Given the description of an element on the screen output the (x, y) to click on. 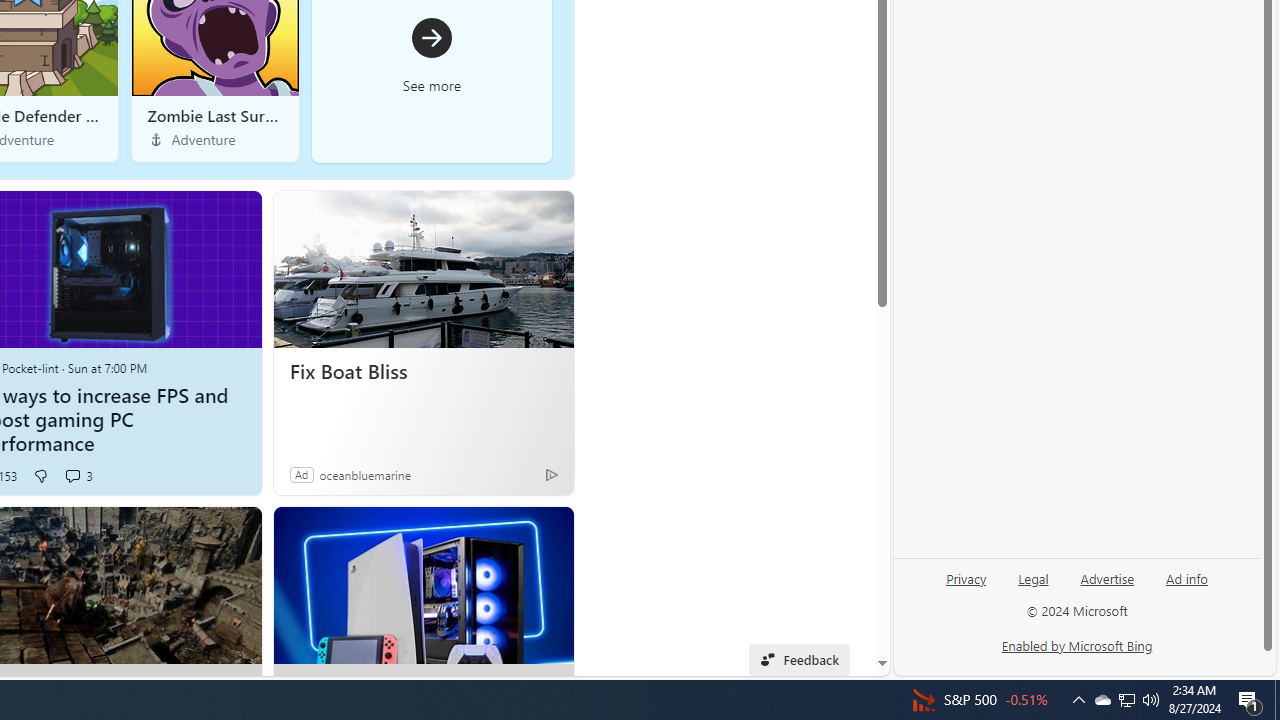
Ad info (1186, 586)
View comments 3 Comment (78, 475)
